Given the description of an element on the screen output the (x, y) to click on. 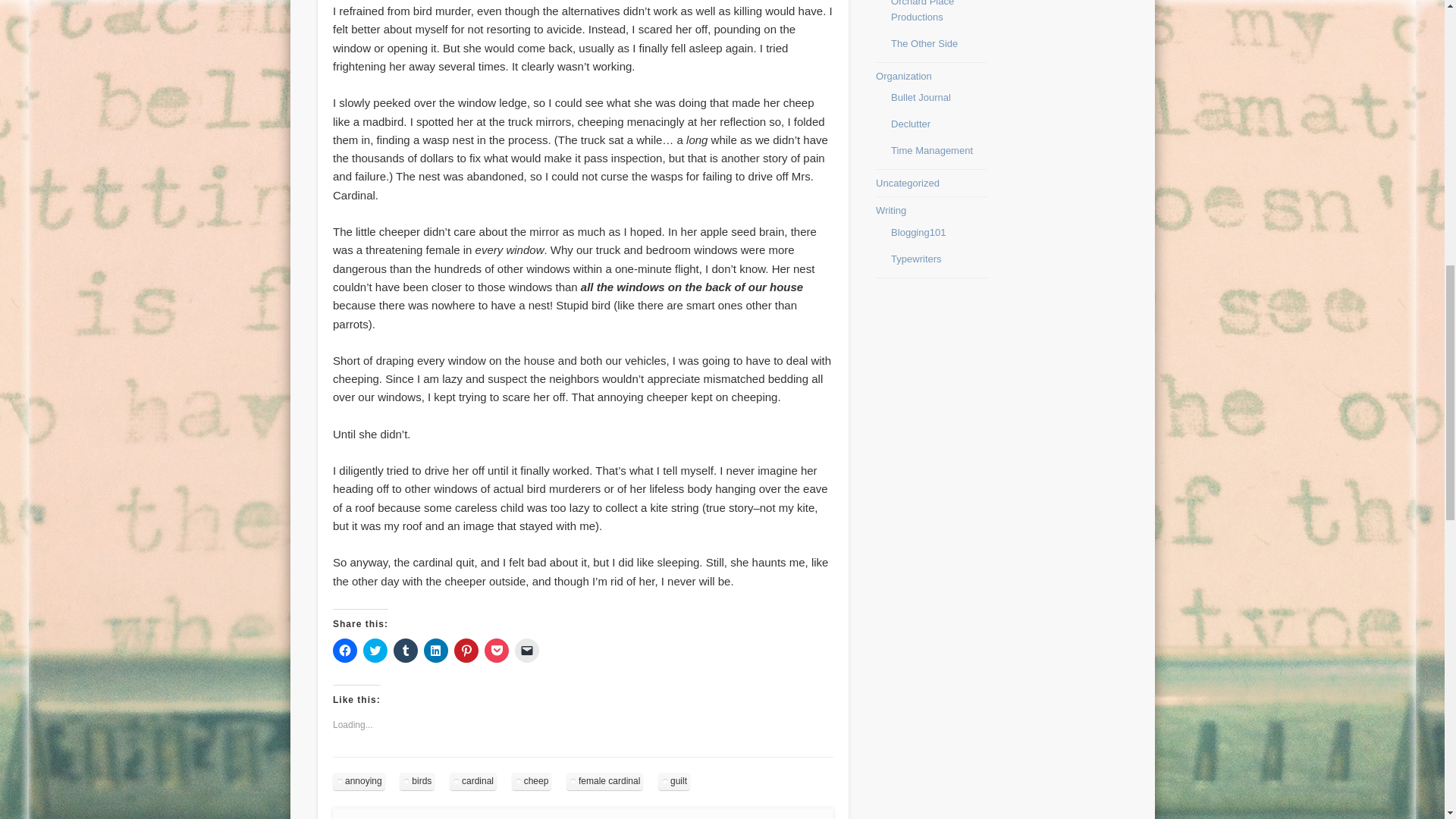
birds (415, 781)
Click to share on Facebook (344, 650)
cheep (531, 781)
guilt (674, 781)
Click to share on Pinterest (466, 650)
Click to email a link to a friend (526, 650)
Click to share on Tumblr (405, 650)
Click to share on Twitter (374, 650)
Click to share on Pocket (496, 650)
Click to share on LinkedIn (435, 650)
